Given the description of an element on the screen output the (x, y) to click on. 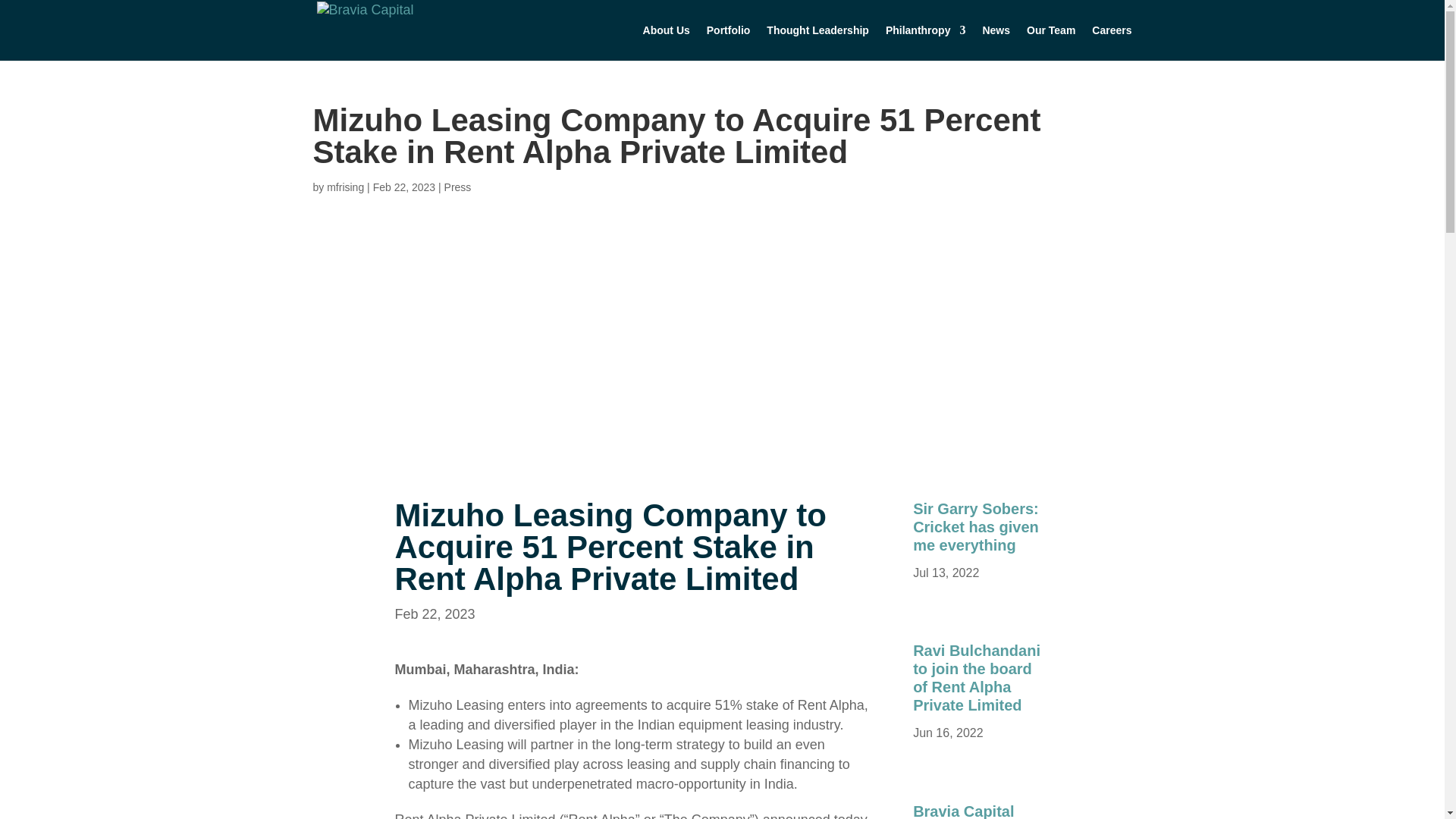
Posts by mfrising (345, 186)
Philanthropy (925, 42)
Portfolio (728, 42)
Thought Leadership (818, 42)
Sir Garry Sobers: Cricket has given me everything (975, 526)
Careers (1111, 42)
Our Team (1050, 42)
mfrising (345, 186)
About Us (666, 42)
Press (457, 186)
